Given the description of an element on the screen output the (x, y) to click on. 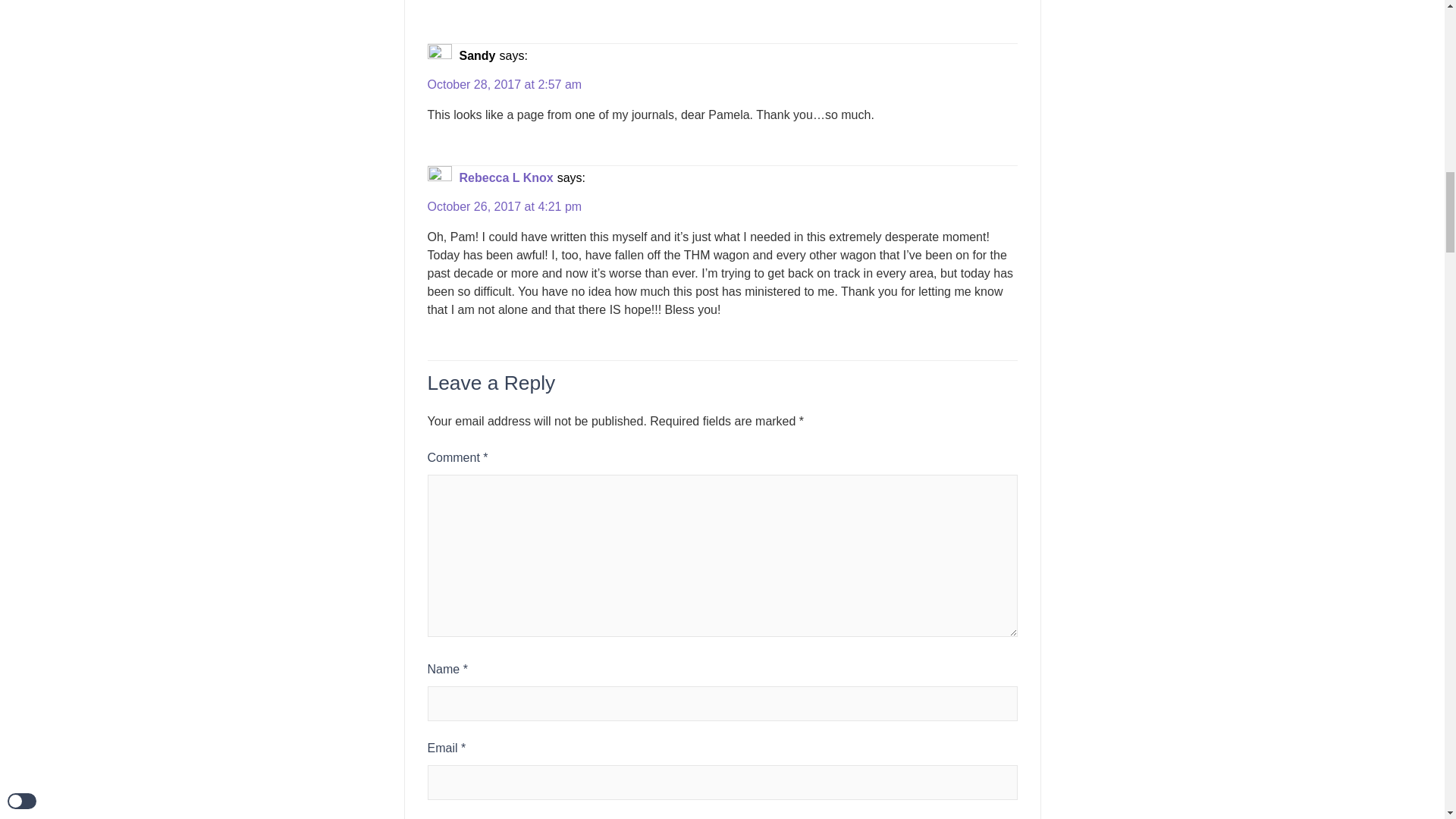
Rebecca L Knox (506, 177)
October 28, 2017 at 2:57 am (505, 85)
October 26, 2017 at 4:21 pm (505, 207)
